Given the description of an element on the screen output the (x, y) to click on. 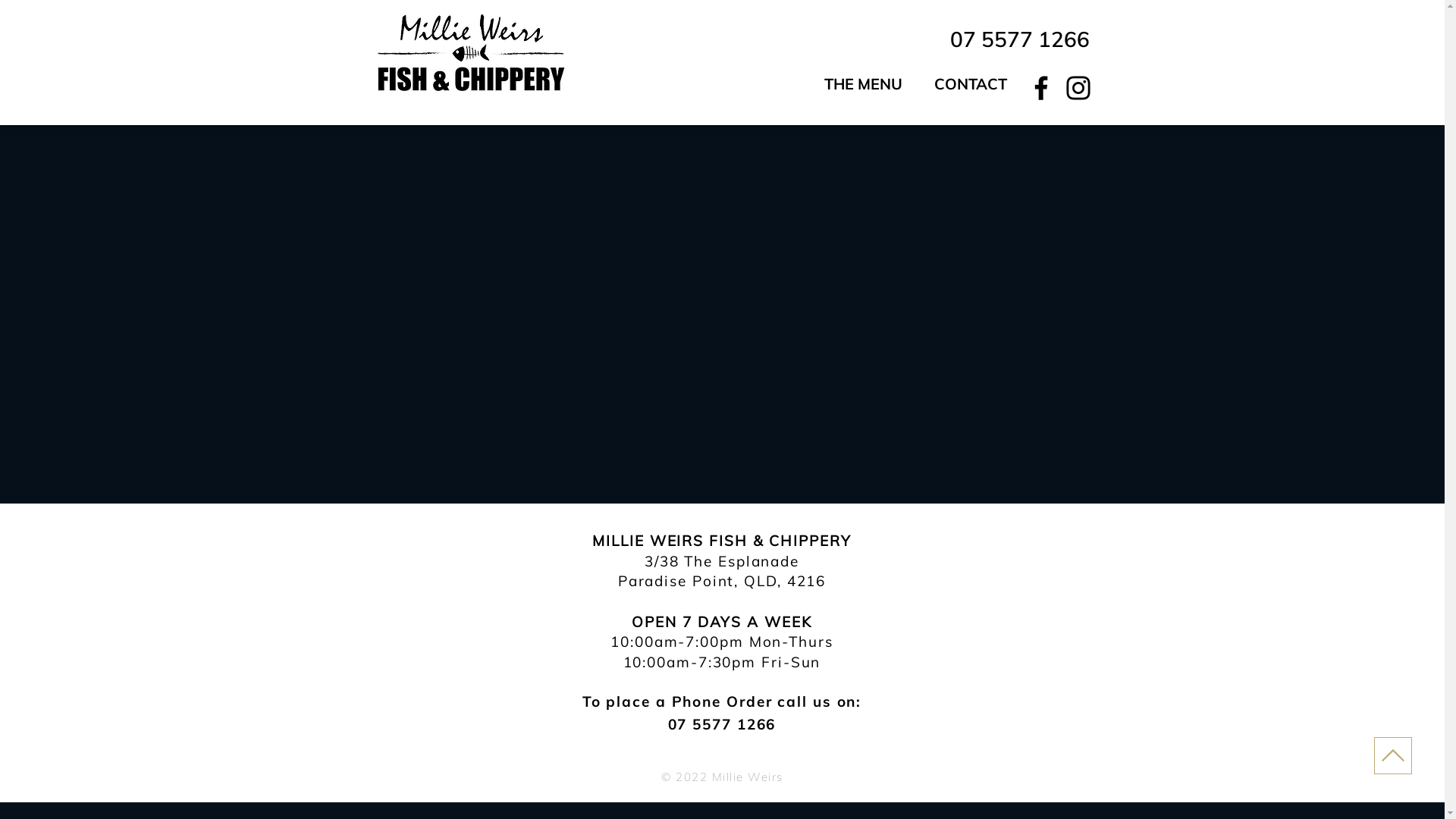
THE MENU Element type: text (863, 83)
CONTACT Element type: text (970, 83)
07 5577 1266 Element type: text (722, 724)
07 5577 1266 Element type: text (1019, 38)
To place a Phone Order call us on: Element type: text (722, 700)
